Given the description of an element on the screen output the (x, y) to click on. 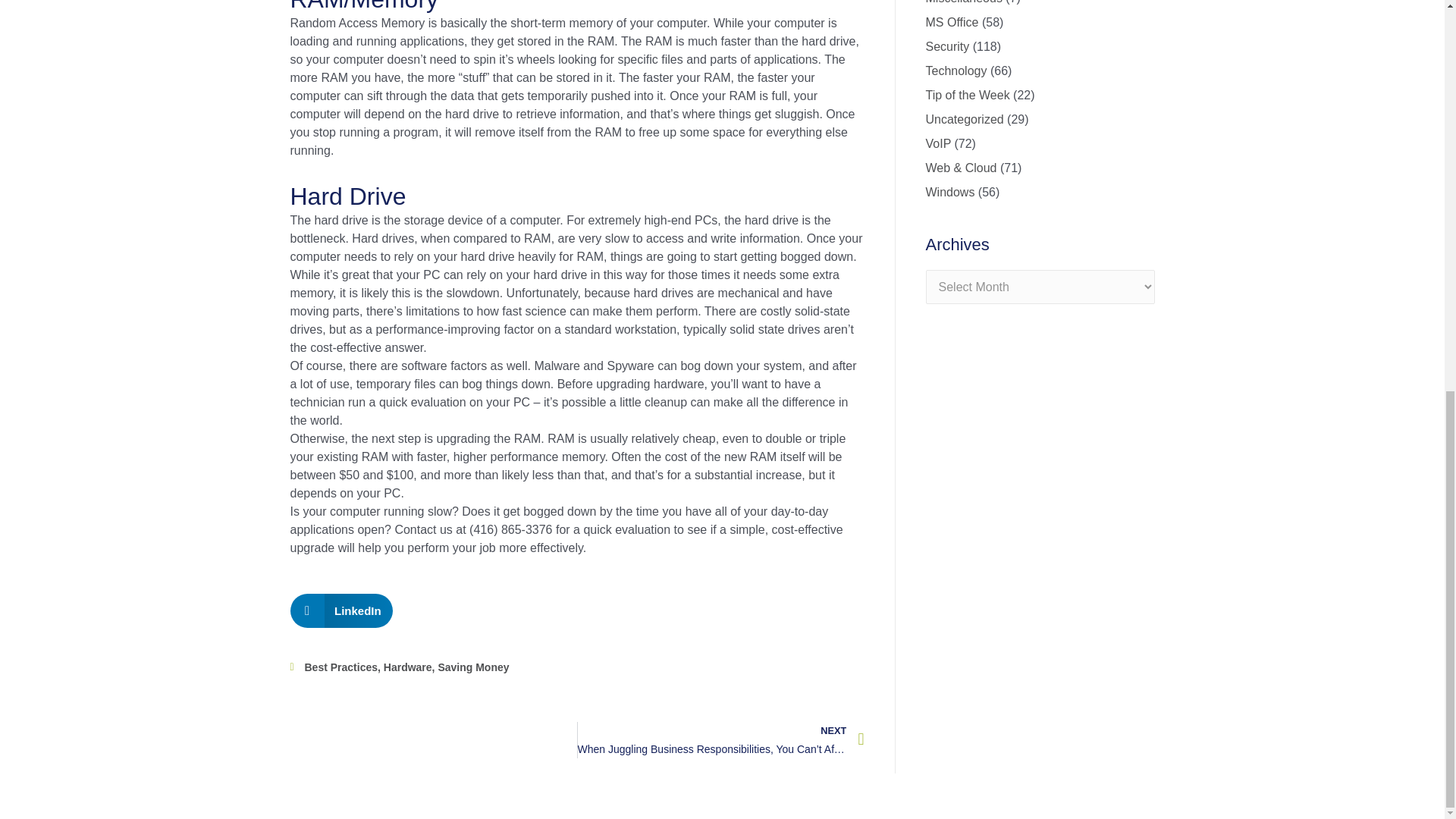
Saving Money (473, 666)
Hardware (408, 666)
Best Practices (341, 666)
